Given the description of an element on the screen output the (x, y) to click on. 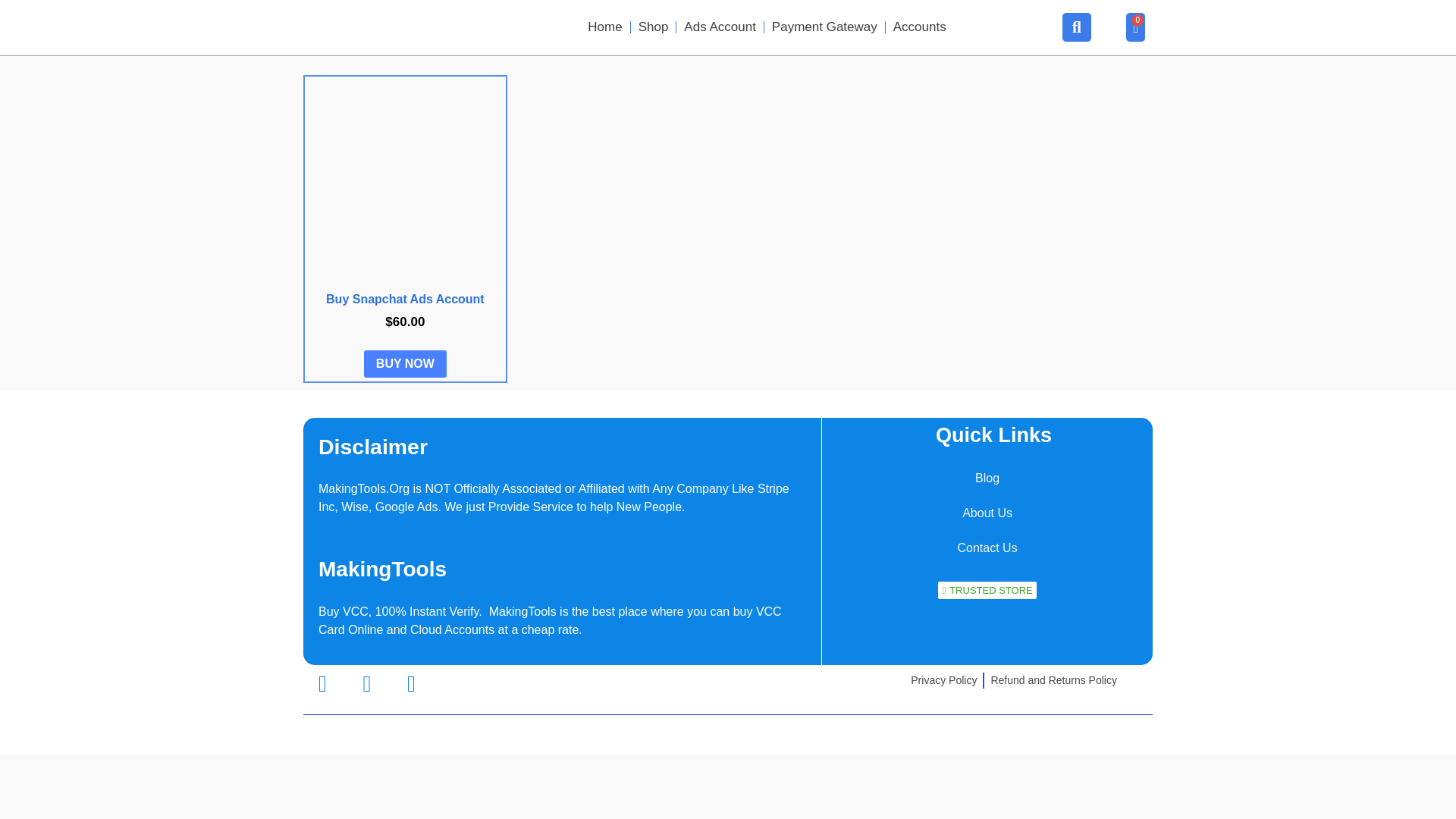
Shop (653, 27)
Home (603, 27)
TRUSTED STORE (986, 589)
Blog (986, 478)
Privacy Policy (943, 680)
Ads Account (719, 27)
Accounts (919, 27)
About Us (986, 513)
Payment Gateway (824, 27)
Refund and Returns Policy (1053, 680)
Contact Us (986, 547)
BUY NOW (405, 363)
